Given the description of an element on the screen output the (x, y) to click on. 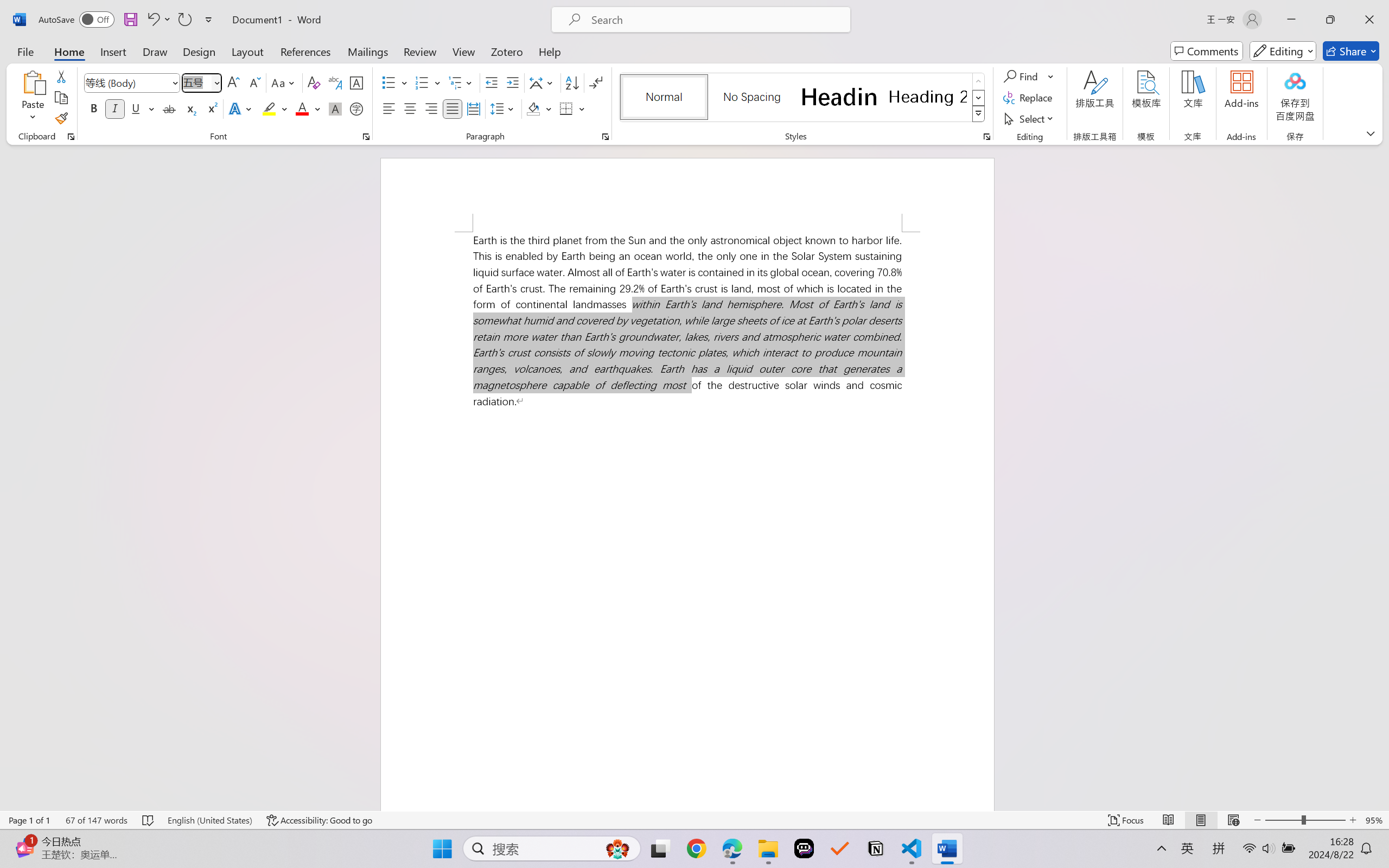
Bold (94, 108)
Align Left (388, 108)
Phonetic Guide... (334, 82)
Repeat Italic (184, 19)
Clear Formatting (313, 82)
Font... (365, 136)
Justify (452, 108)
